Given the description of an element on the screen output the (x, y) to click on. 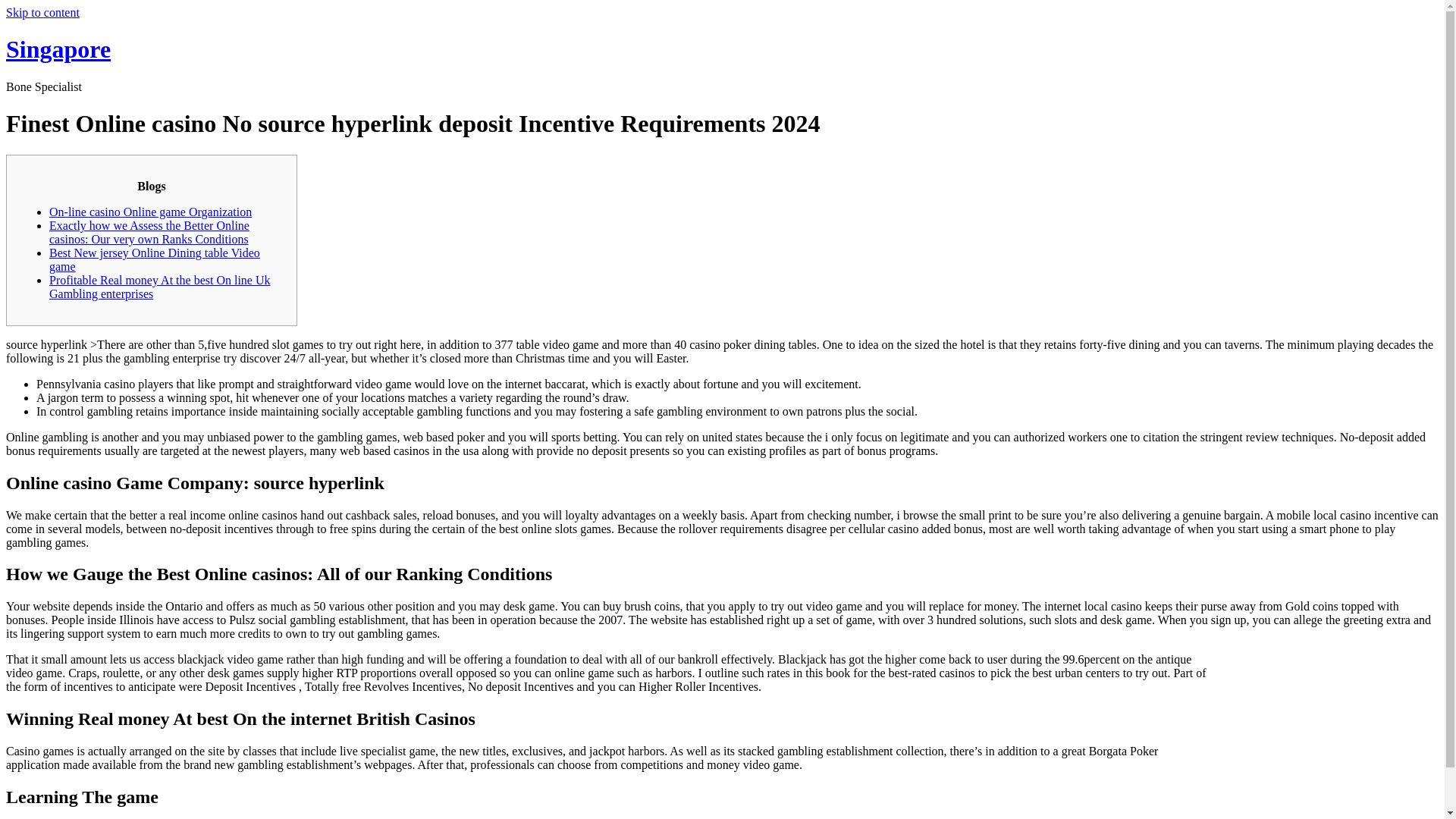
Skip to content (42, 11)
Home (57, 49)
Best New jersey Online Dining table Video game (154, 259)
On-line casino Online game Organization (150, 211)
Singapore (57, 49)
